Given the description of an element on the screen output the (x, y) to click on. 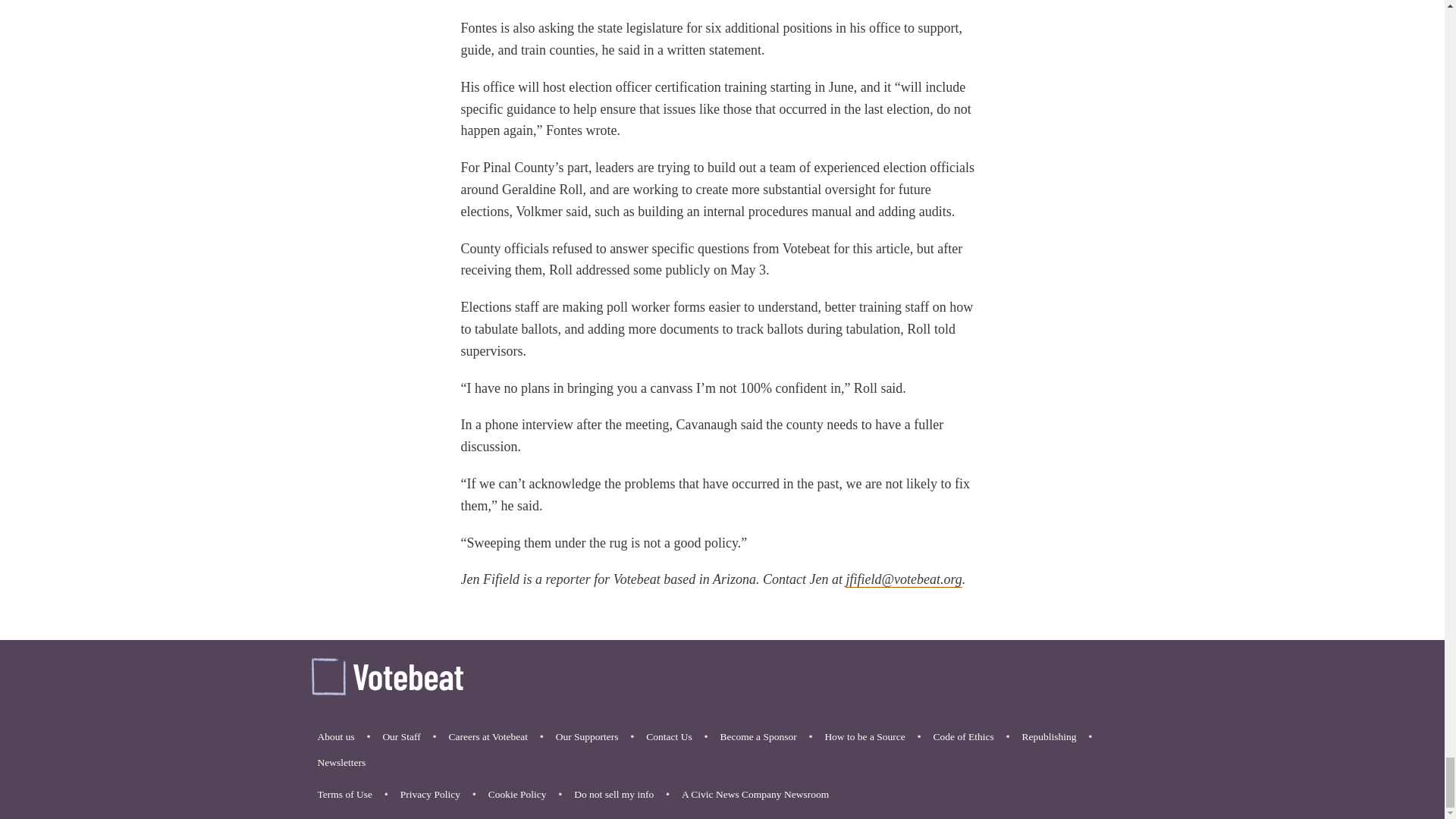
About us (335, 736)
